Given the description of an element on the screen output the (x, y) to click on. 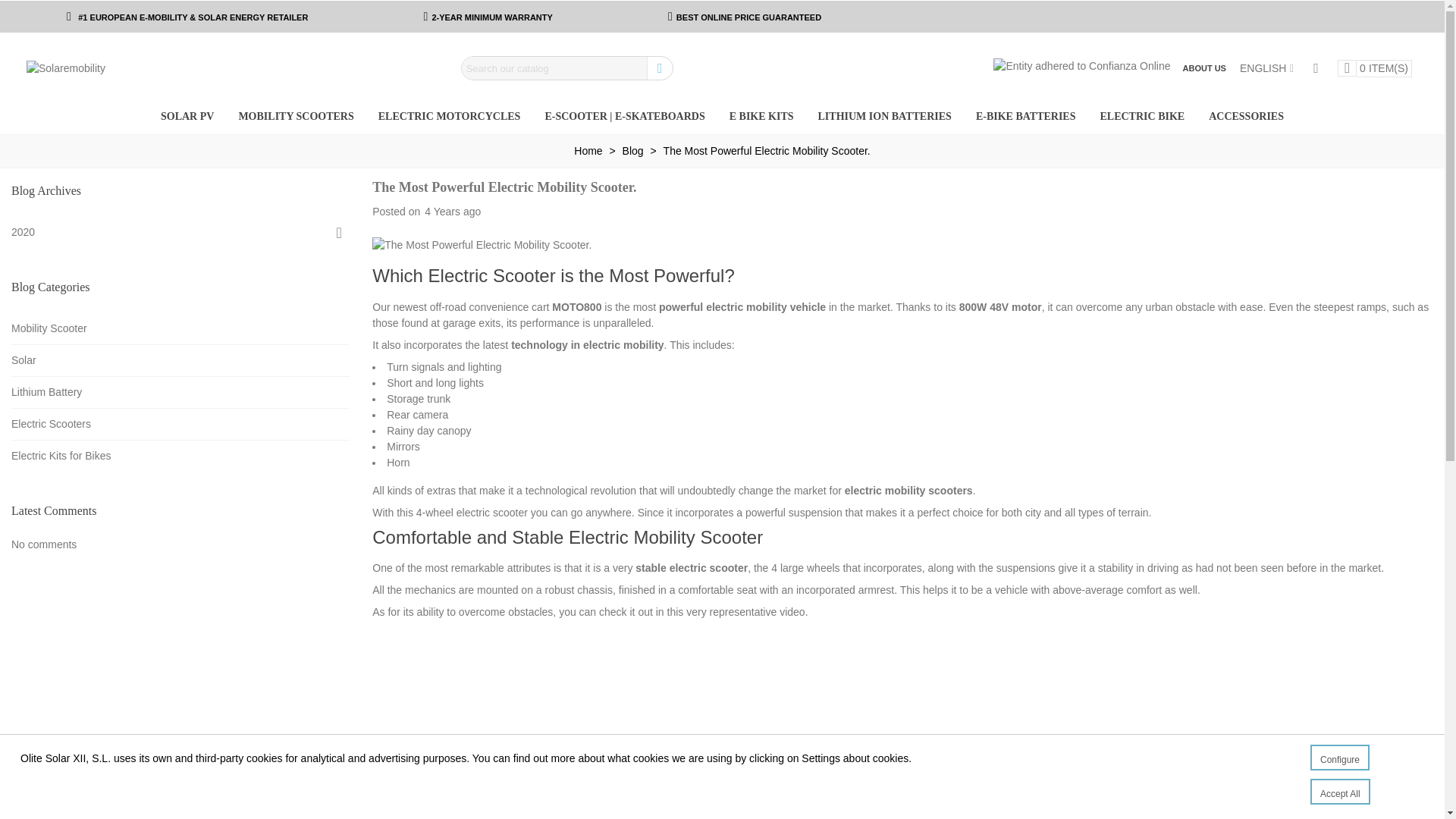
Entity adhered to Confianza Online (1081, 64)
Lithium Battery (180, 391)
E-BIKE BATTERIES (1025, 116)
The Most Powerful Electric Mobility Scooter. (766, 150)
ELECTRIC MOTORCYCLES (449, 116)
E-BIKE BATTERIES (1025, 116)
Electric Scooters (180, 423)
SOLAR PV (186, 116)
SOLAR PV (186, 116)
About Us (1203, 68)
ELECTRIC BIKE (1141, 116)
ELECTRIC MOTORCYCLES (449, 116)
ACCESSORIES (1245, 116)
Blog (634, 150)
LITHIUM ION BATTERIES (884, 116)
